Given the description of an element on the screen output the (x, y) to click on. 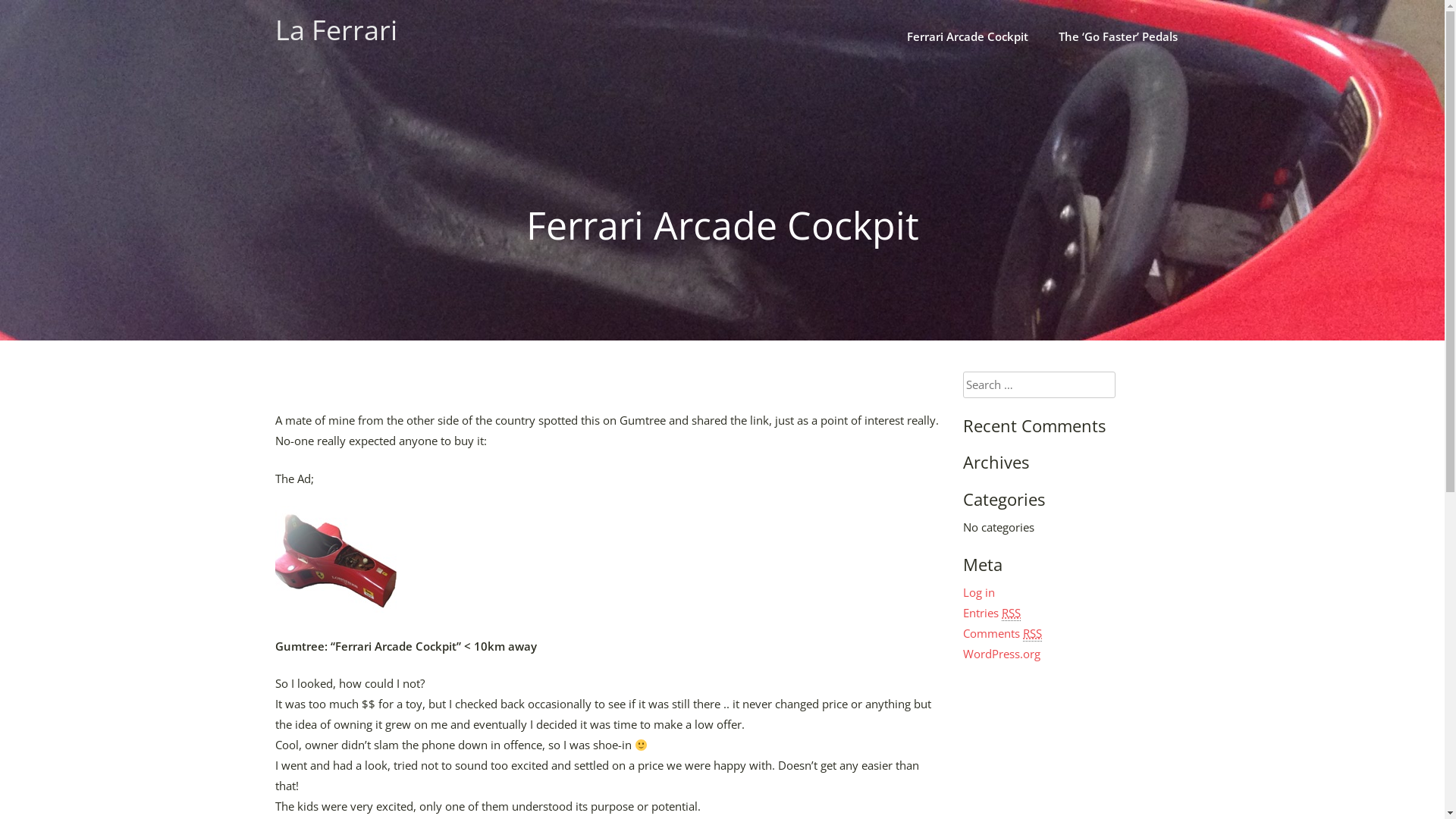
WordPress.org Element type: text (1001, 653)
Comments RSS Element type: text (1002, 633)
La Ferrari Element type: text (335, 29)
Entries RSS Element type: text (991, 613)
Search Element type: text (37, 18)
Skip to content Element type: text (0, 0)
Log in Element type: text (978, 591)
Ferrari Arcade Cockpit Element type: text (967, 36)
